Given the description of an element on the screen output the (x, y) to click on. 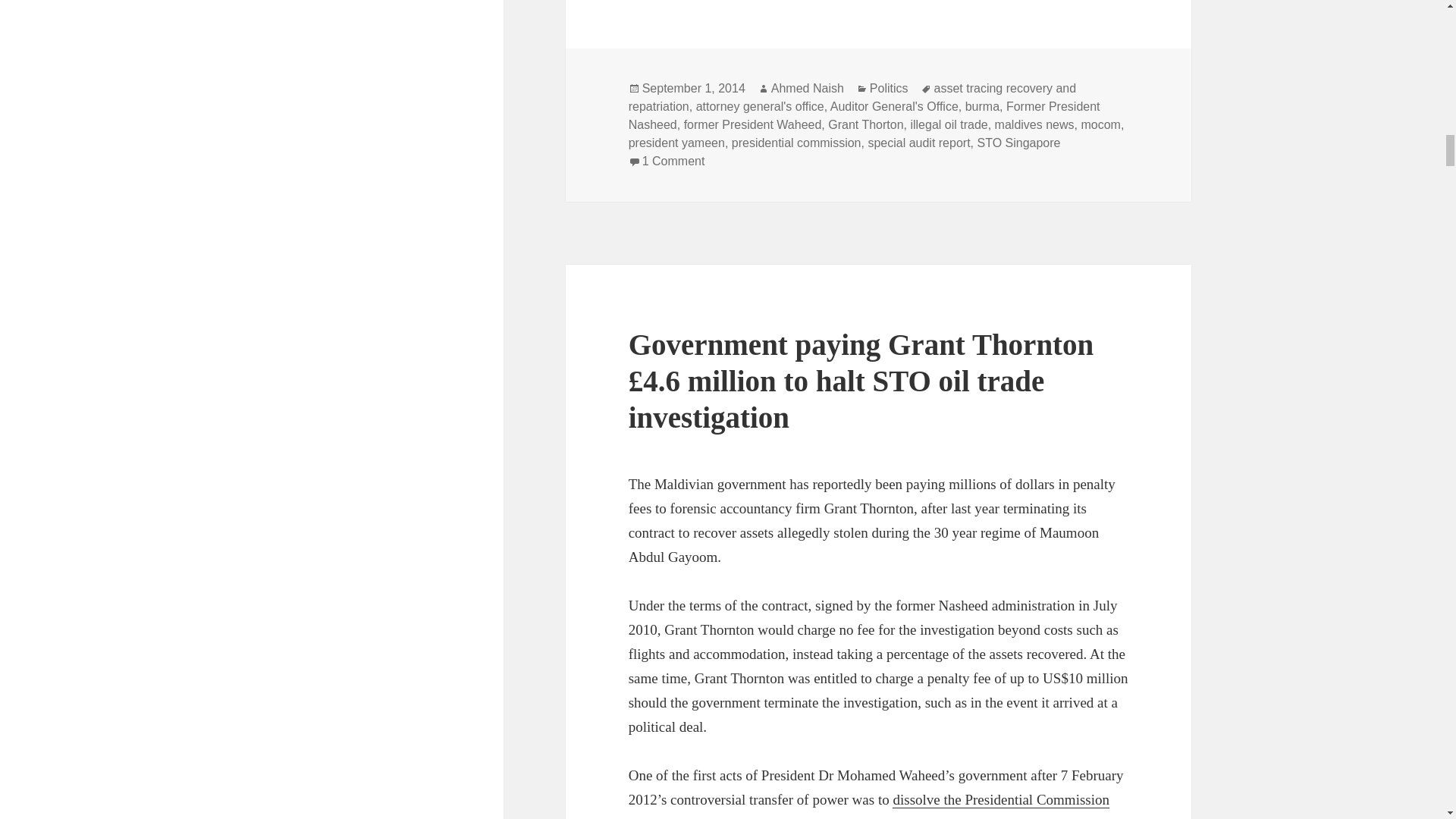
September 1, 2014 (693, 88)
attorney general's office (759, 106)
Ahmed Naish (807, 88)
asset tracing recovery and repatriation (851, 97)
Politics (888, 88)
Auditor General's Office (893, 106)
